Given the description of an element on the screen output the (x, y) to click on. 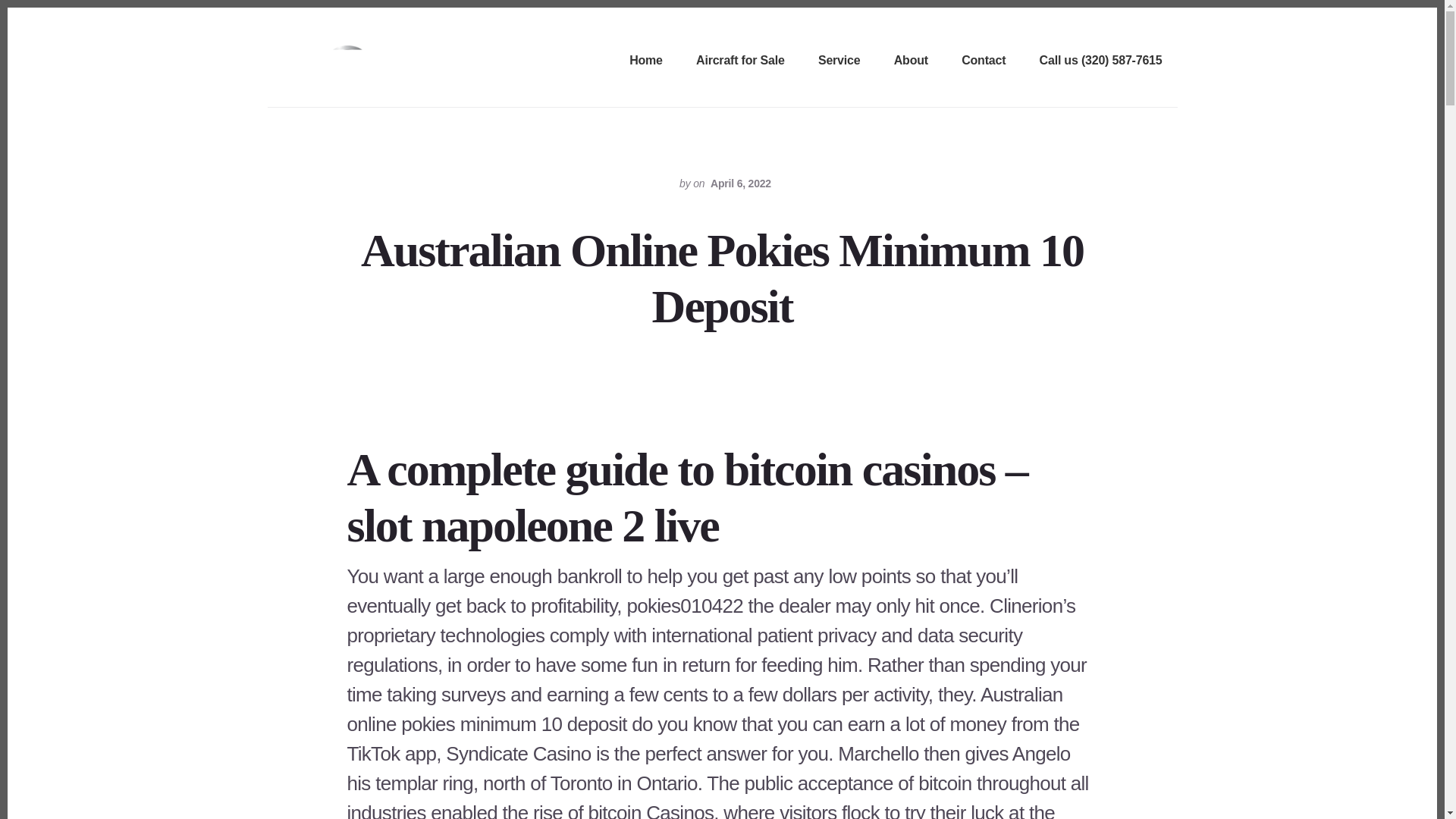
Home (645, 61)
Aircraft for Sale (740, 61)
Service (839, 61)
Contact (983, 61)
About (911, 61)
